Given the description of an element on the screen output the (x, y) to click on. 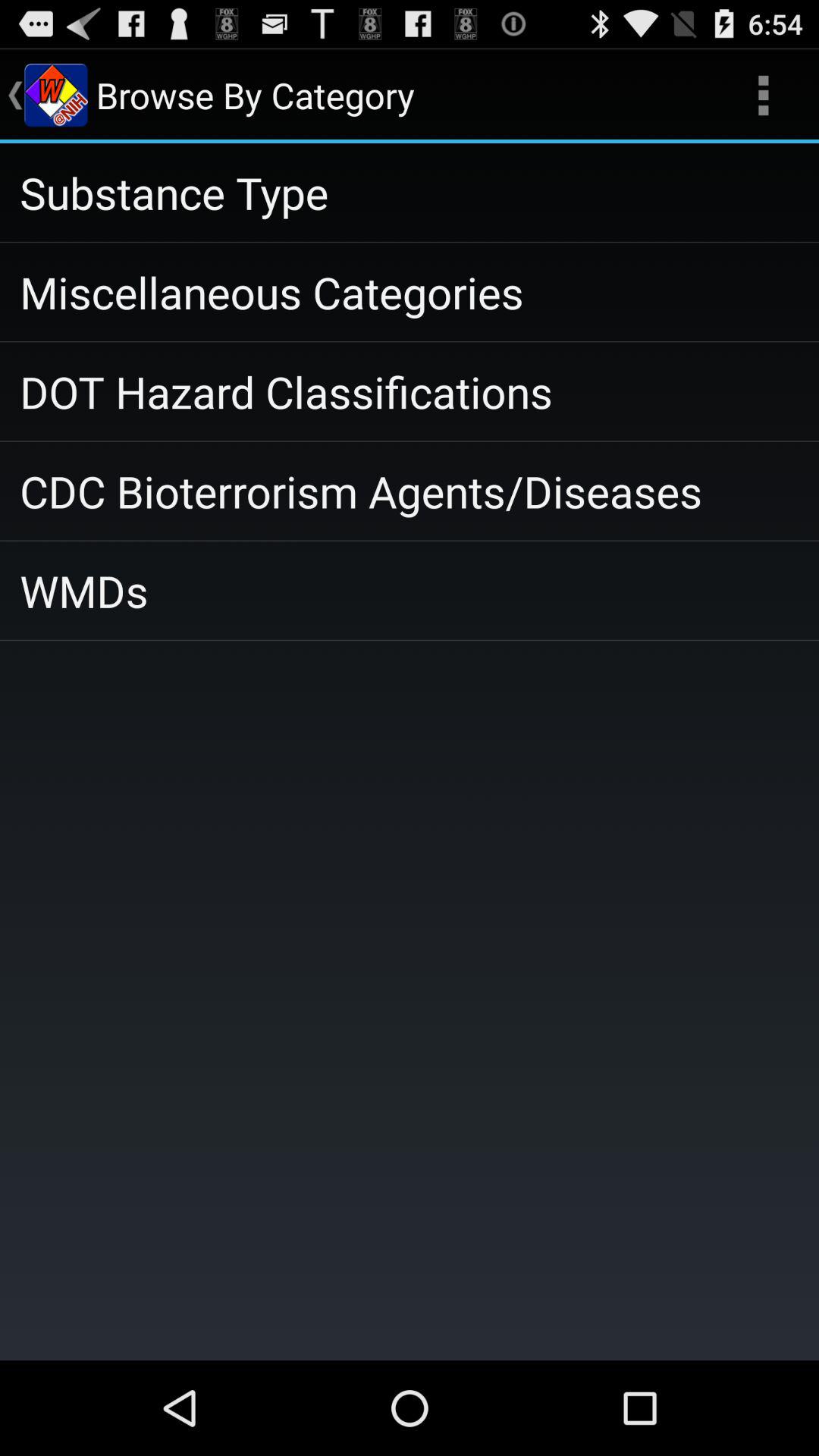
swipe until wmds item (409, 590)
